Given the description of an element on the screen output the (x, y) to click on. 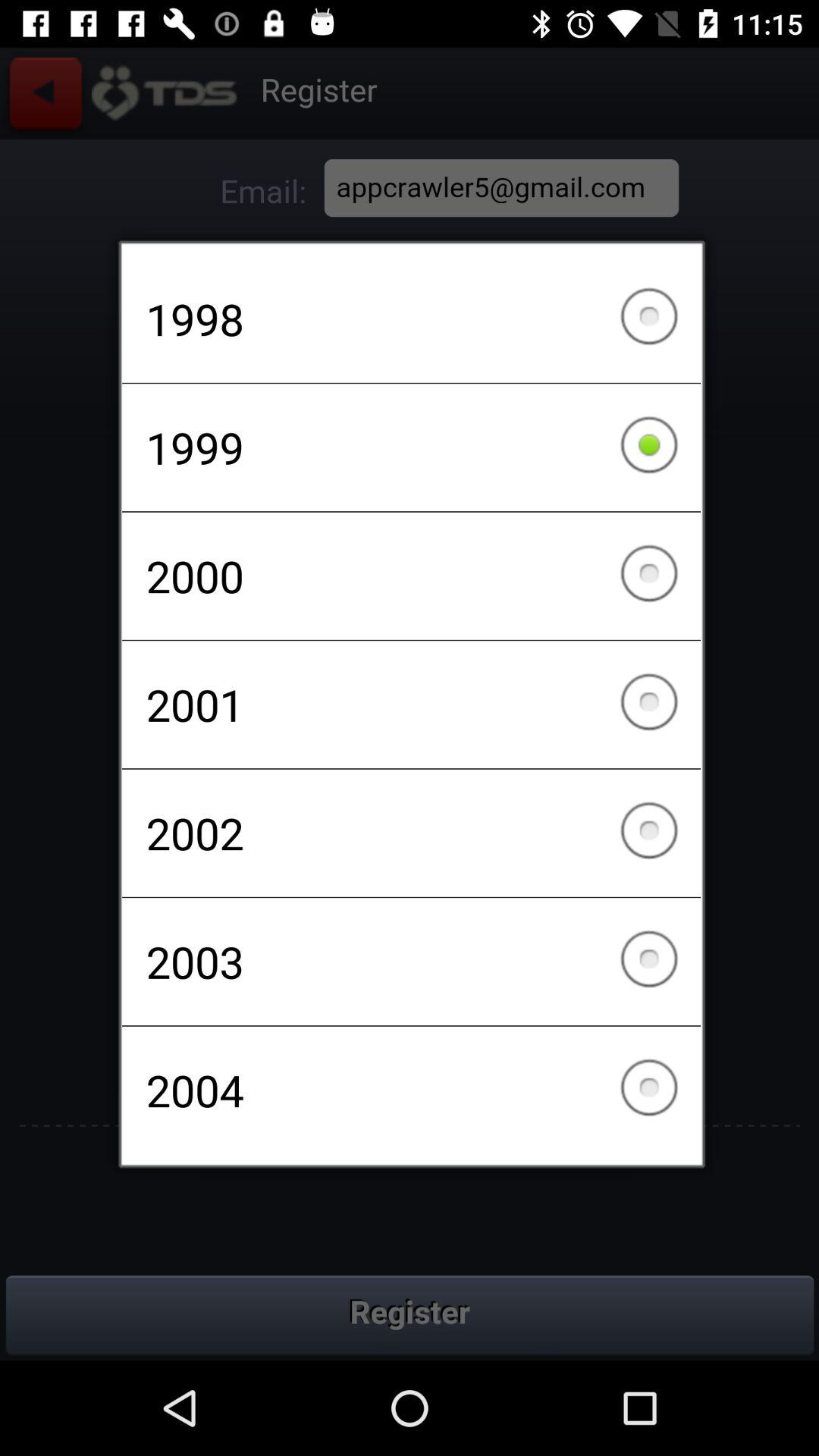
tap the icon above 2002 checkbox (411, 704)
